Given the description of an element on the screen output the (x, y) to click on. 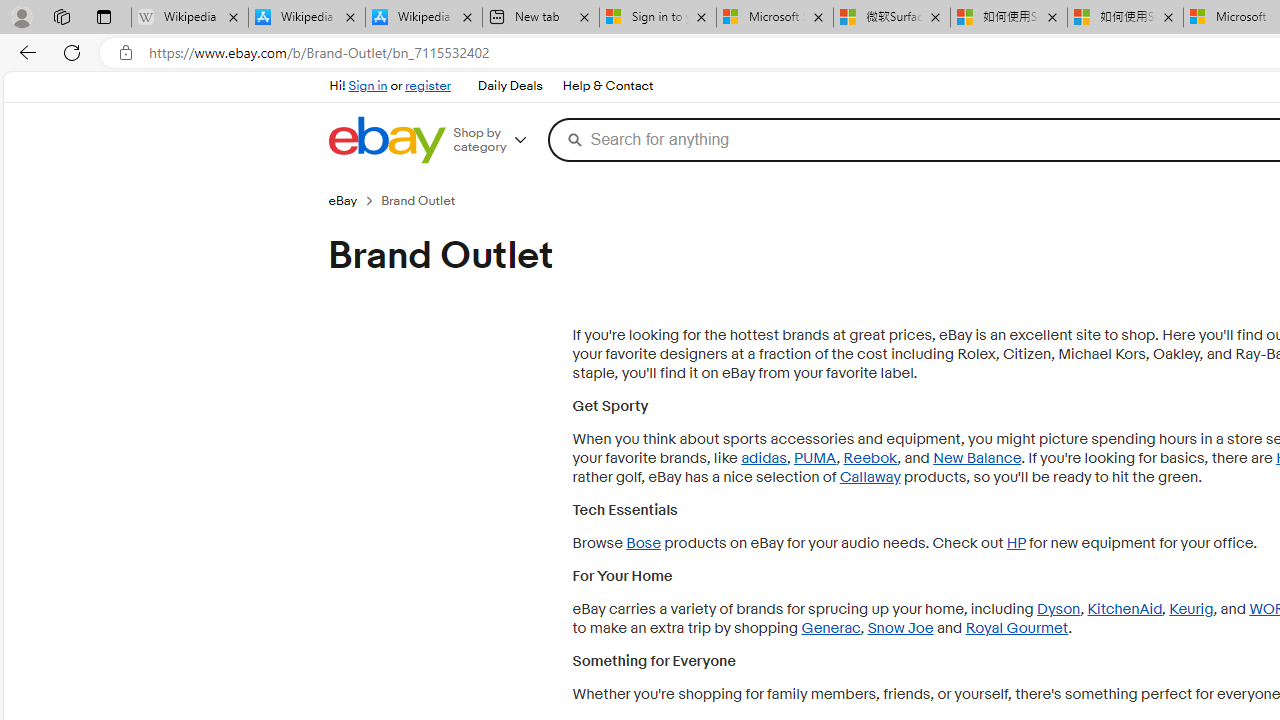
Snow Joe (900, 628)
eBay (342, 200)
Help & Contact (606, 85)
New Balance (977, 458)
Dyson (1058, 609)
eBay Home (386, 139)
eBay Home (386, 139)
Callaway (869, 477)
Royal Gourmet (1016, 628)
Keurig (1190, 609)
PUMA (815, 458)
